Given the description of an element on the screen output the (x, y) to click on. 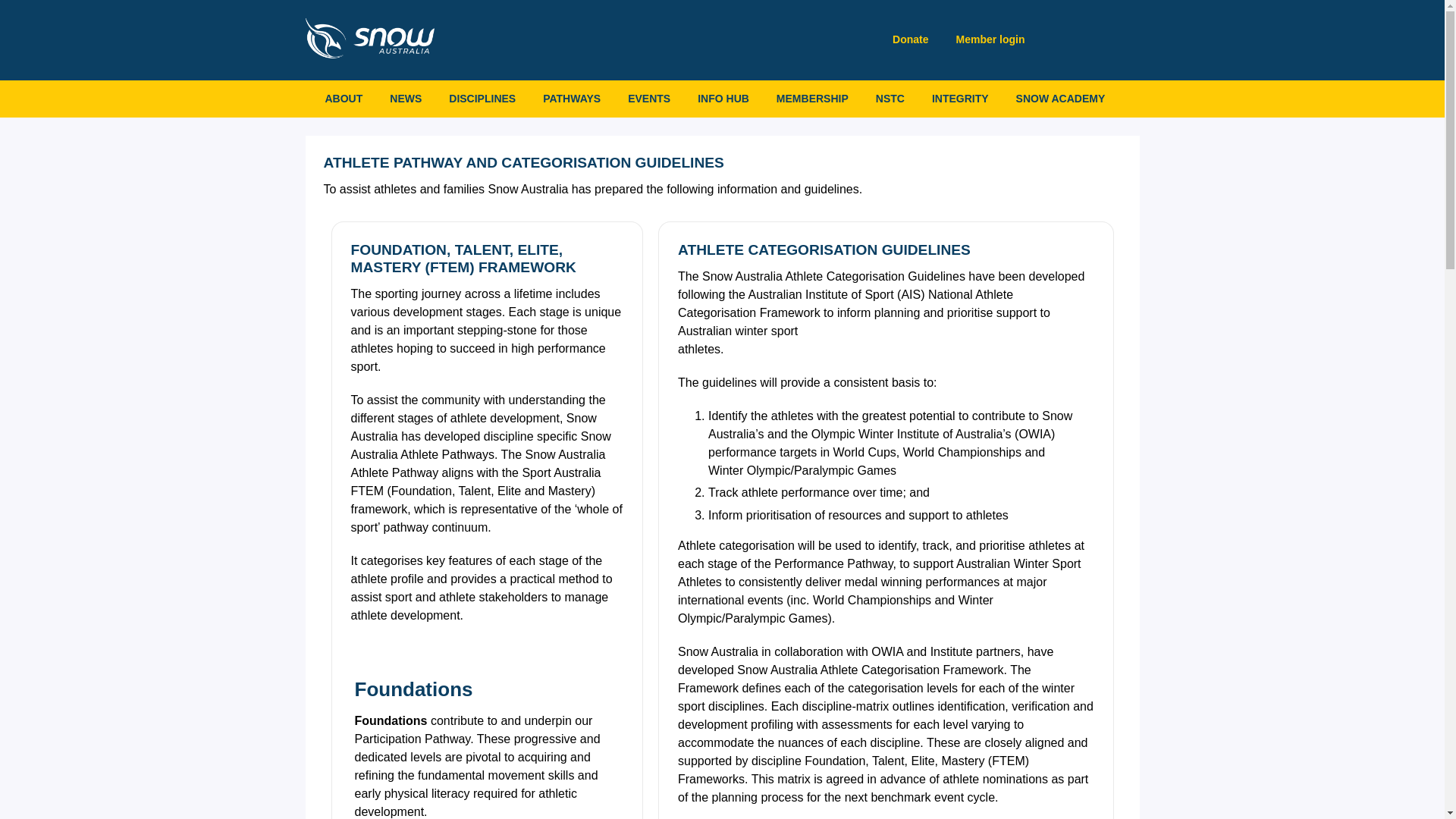
PATHWAYS (571, 98)
NEWS (405, 98)
Donate (908, 39)
ABOUT (343, 98)
DISCIPLINES (482, 98)
Member login (987, 39)
